Given the description of an element on the screen output the (x, y) to click on. 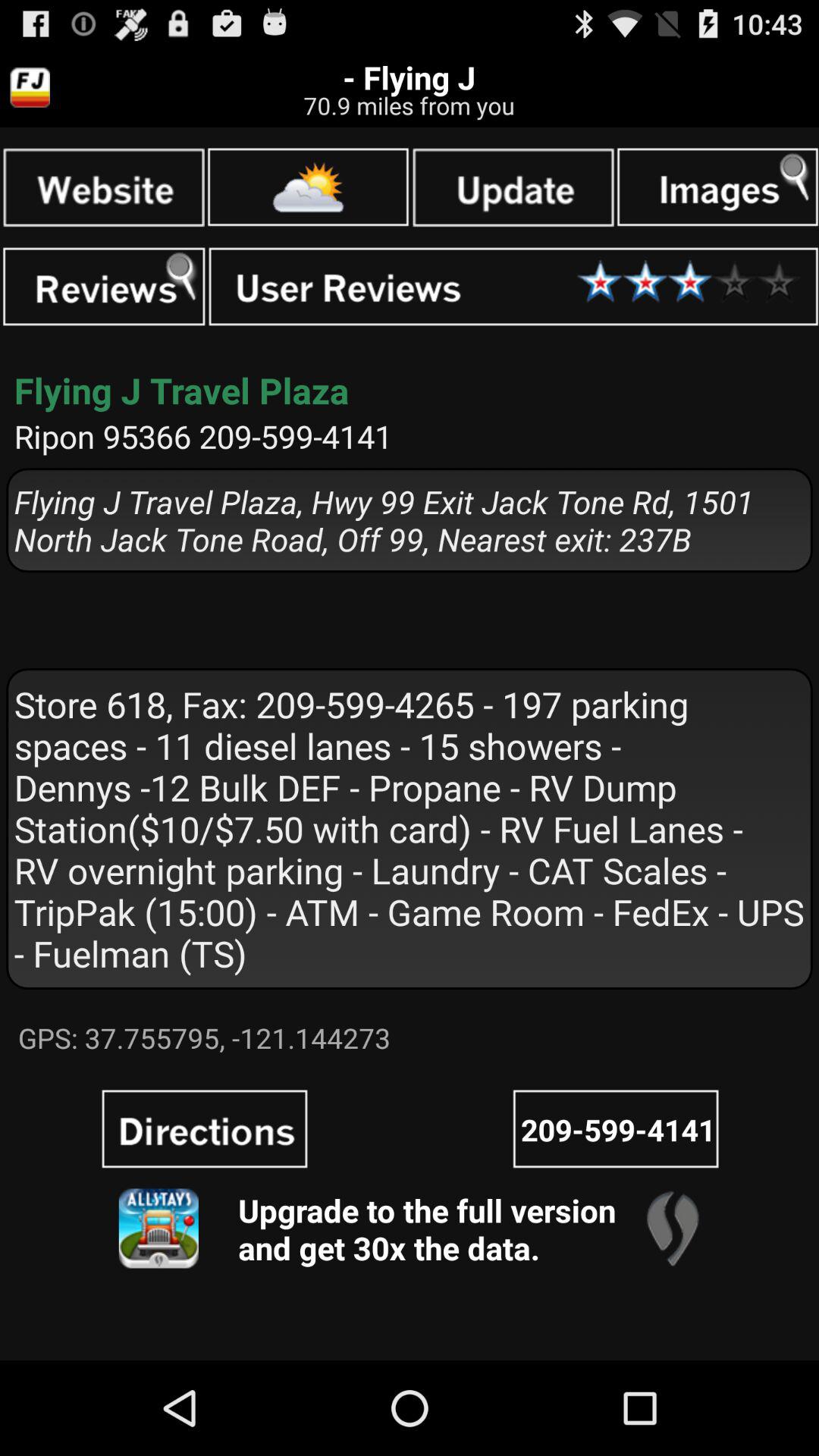
call the number on the screen (615, 1128)
